Given the description of an element on the screen output the (x, y) to click on. 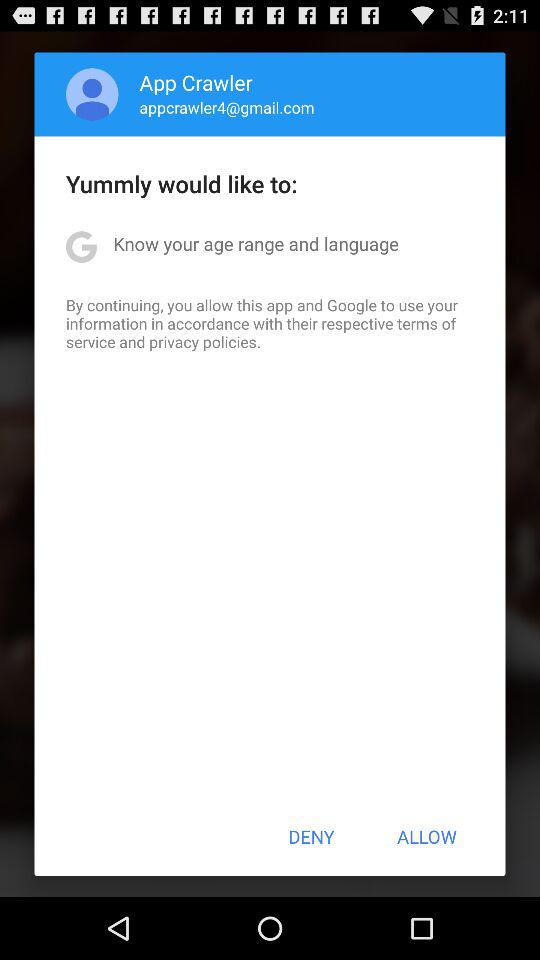
turn off the icon next to the allow (311, 836)
